Given the description of an element on the screen output the (x, y) to click on. 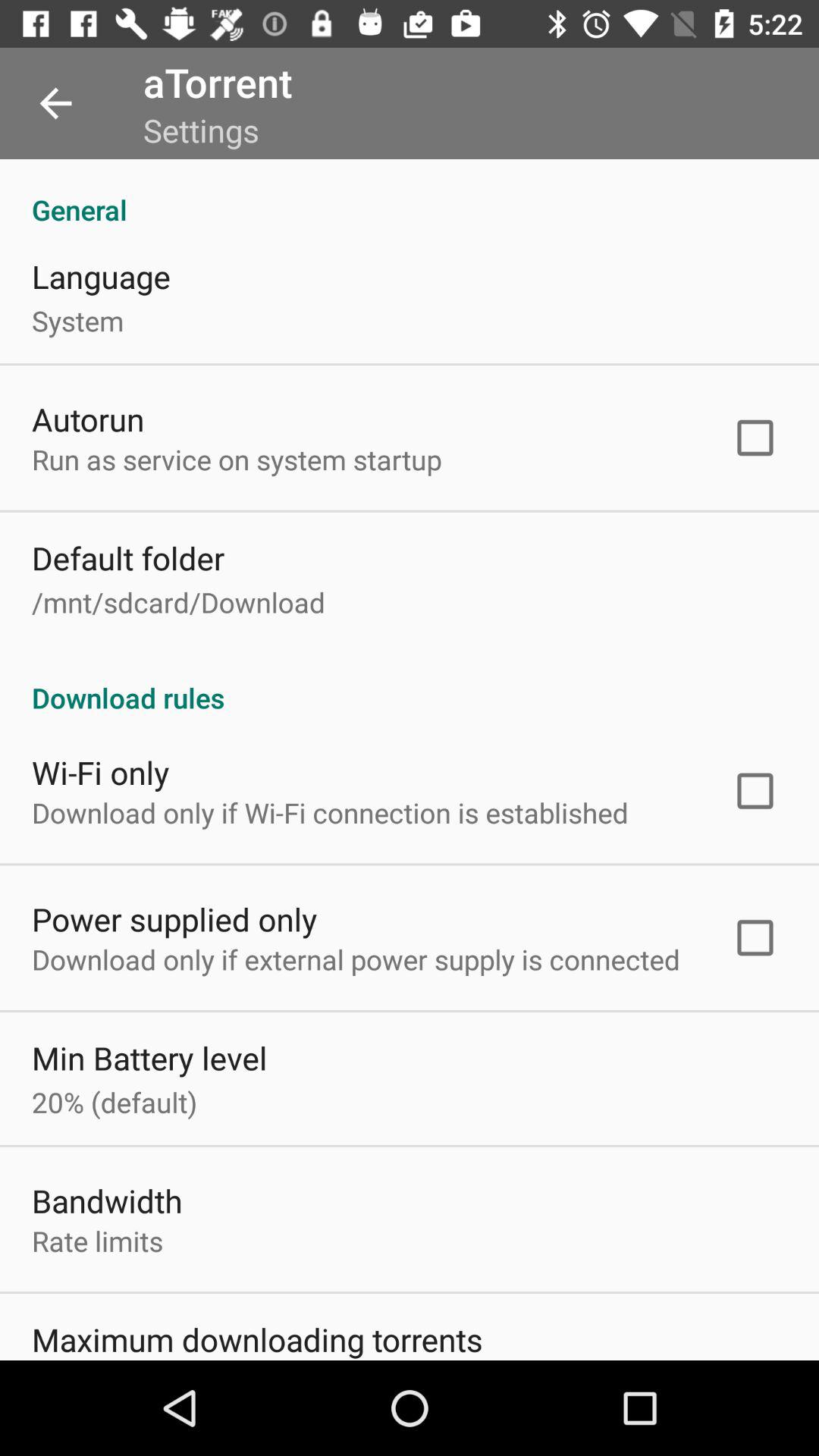
tap item to the left of the atorrent (55, 103)
